Given the description of an element on the screen output the (x, y) to click on. 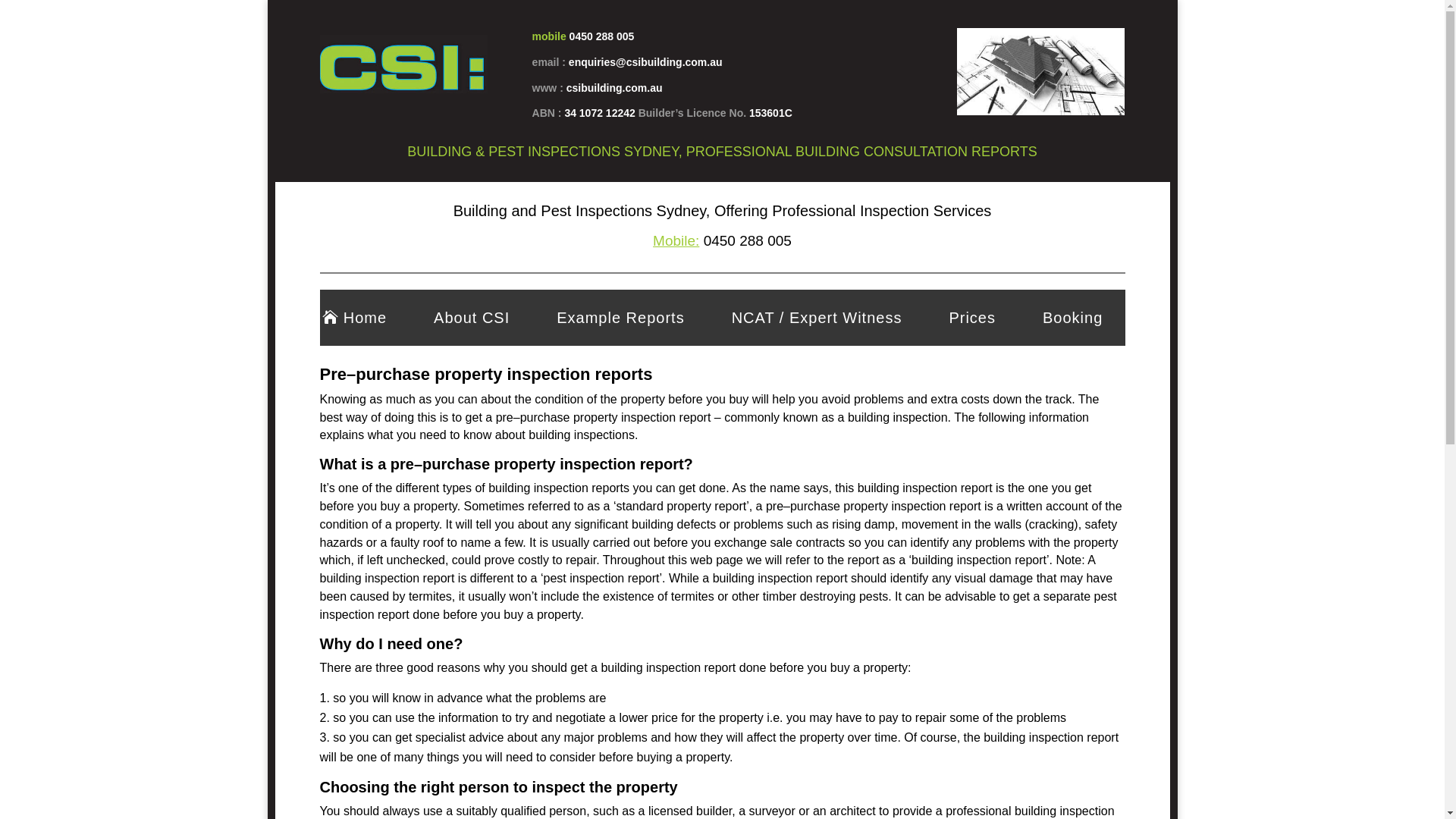
34 1072 12242 Element type: text (600, 112)
NCAT / Expert Witness Element type: text (816, 317)
csibuilding.com.au Element type: text (614, 87)
0450 288 005 Element type: text (601, 36)
enquiries@csibuilding.com.au Element type: text (645, 62)
153601C Element type: text (770, 112)
About CSI Element type: text (470, 317)
Prices Element type: text (971, 317)
Booking Element type: text (1071, 317)
Example Reports Element type: text (619, 317)
0450 288 005 Element type: text (745, 240)
Home Element type: text (364, 317)
